Given the description of an element on the screen output the (x, y) to click on. 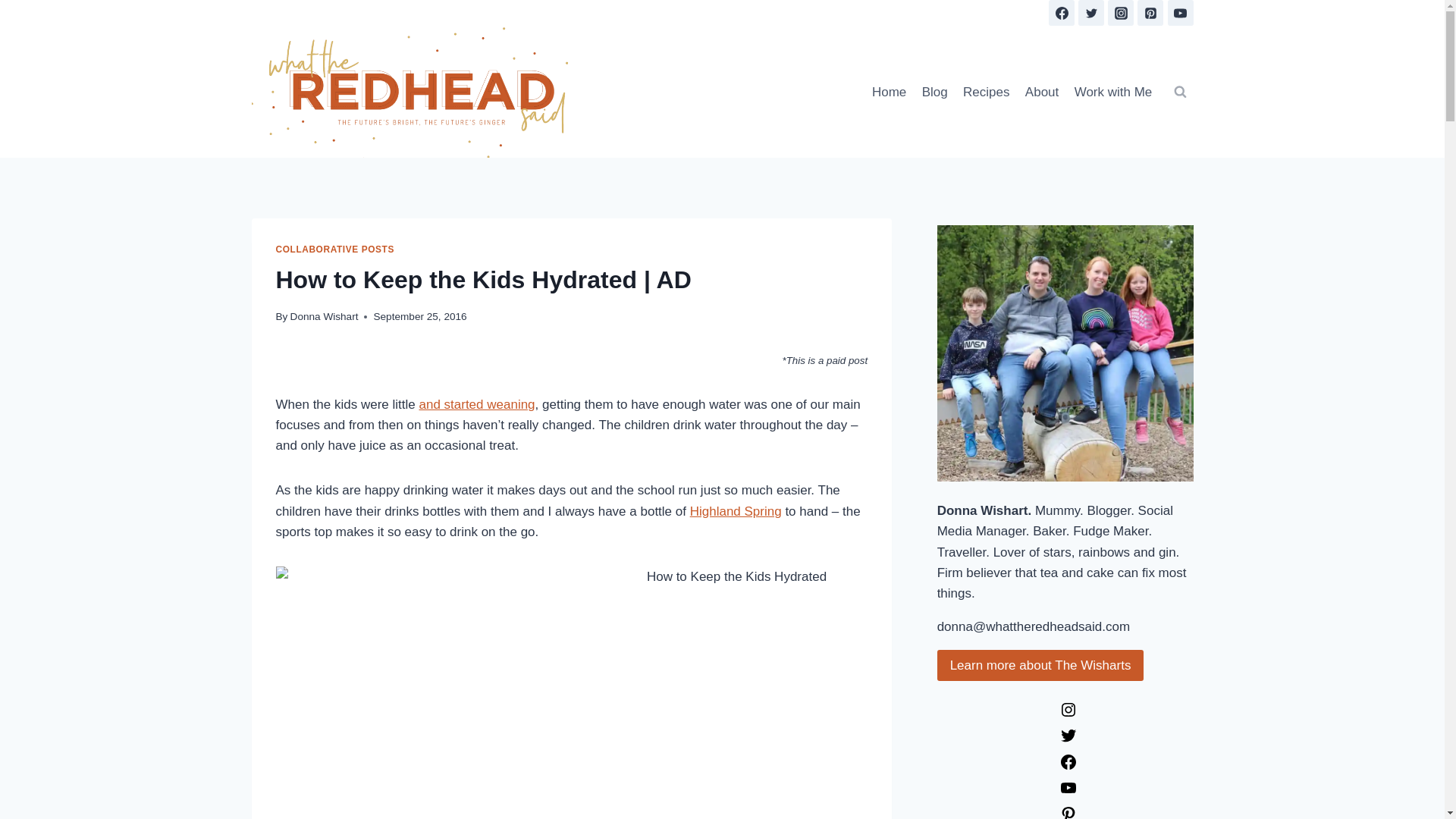
Recipes (986, 91)
About (1042, 91)
and started weaning (476, 404)
COLLABORATIVE POSTS (335, 249)
Highland Spring (735, 511)
Donna Wishart (323, 316)
Work with Me (1111, 91)
Blog (934, 91)
Home (889, 91)
